Given the description of an element on the screen output the (x, y) to click on. 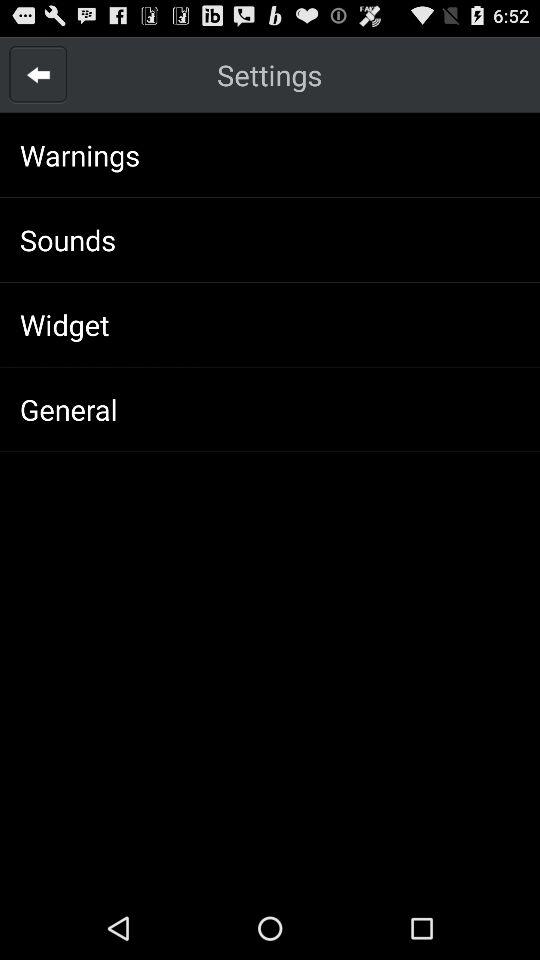
go to previous page (38, 74)
